Given the description of an element on the screen output the (x, y) to click on. 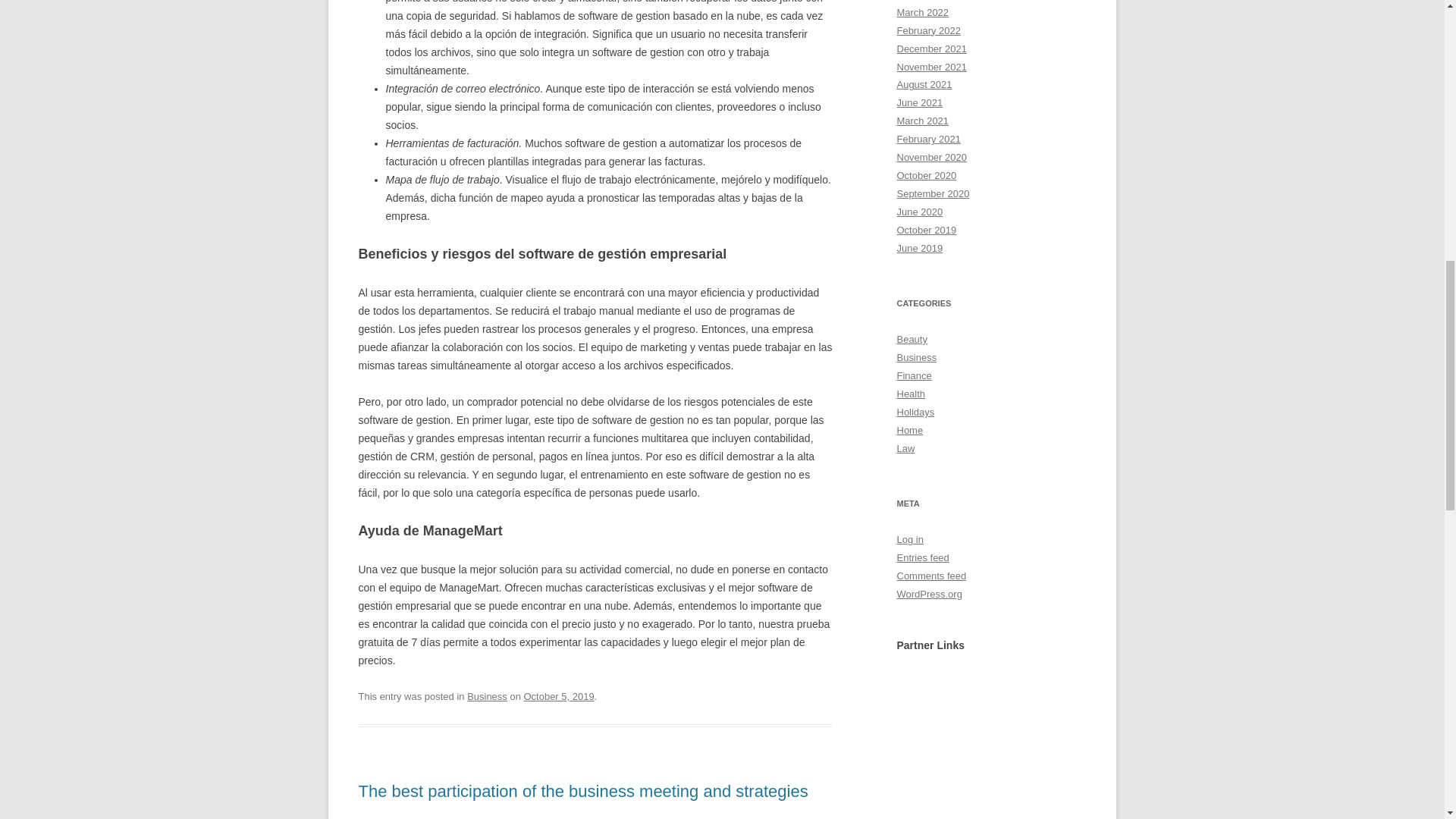
December 2021 (931, 48)
Business (486, 696)
October 5, 2019 (558, 696)
7:55 am (558, 696)
March 2022 (922, 12)
February 2022 (927, 30)
November 2021 (931, 66)
